Given the description of an element on the screen output the (x, y) to click on. 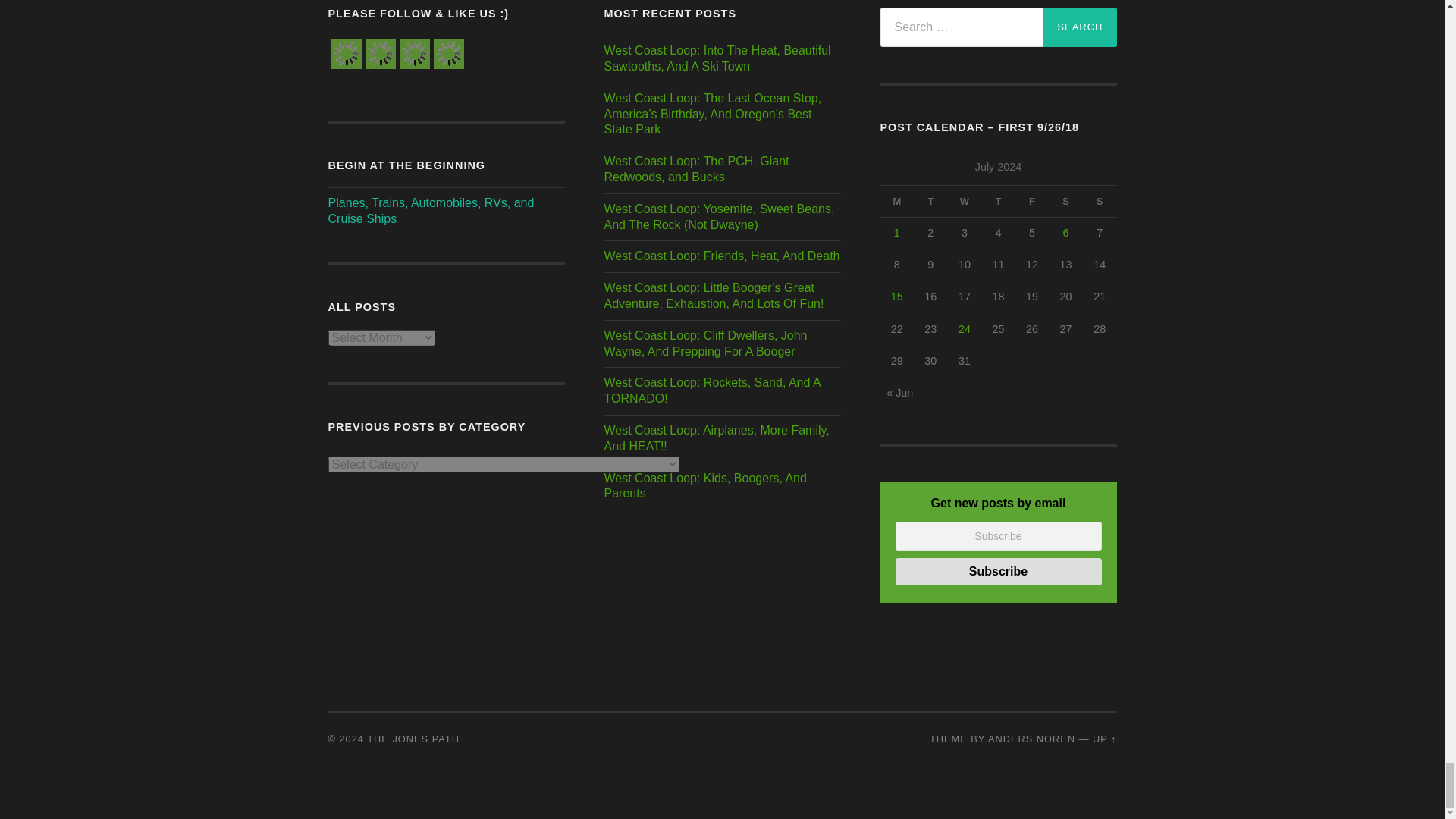
Subscribe (997, 571)
Search (1079, 26)
Search (1079, 26)
